Given the description of an element on the screen output the (x, y) to click on. 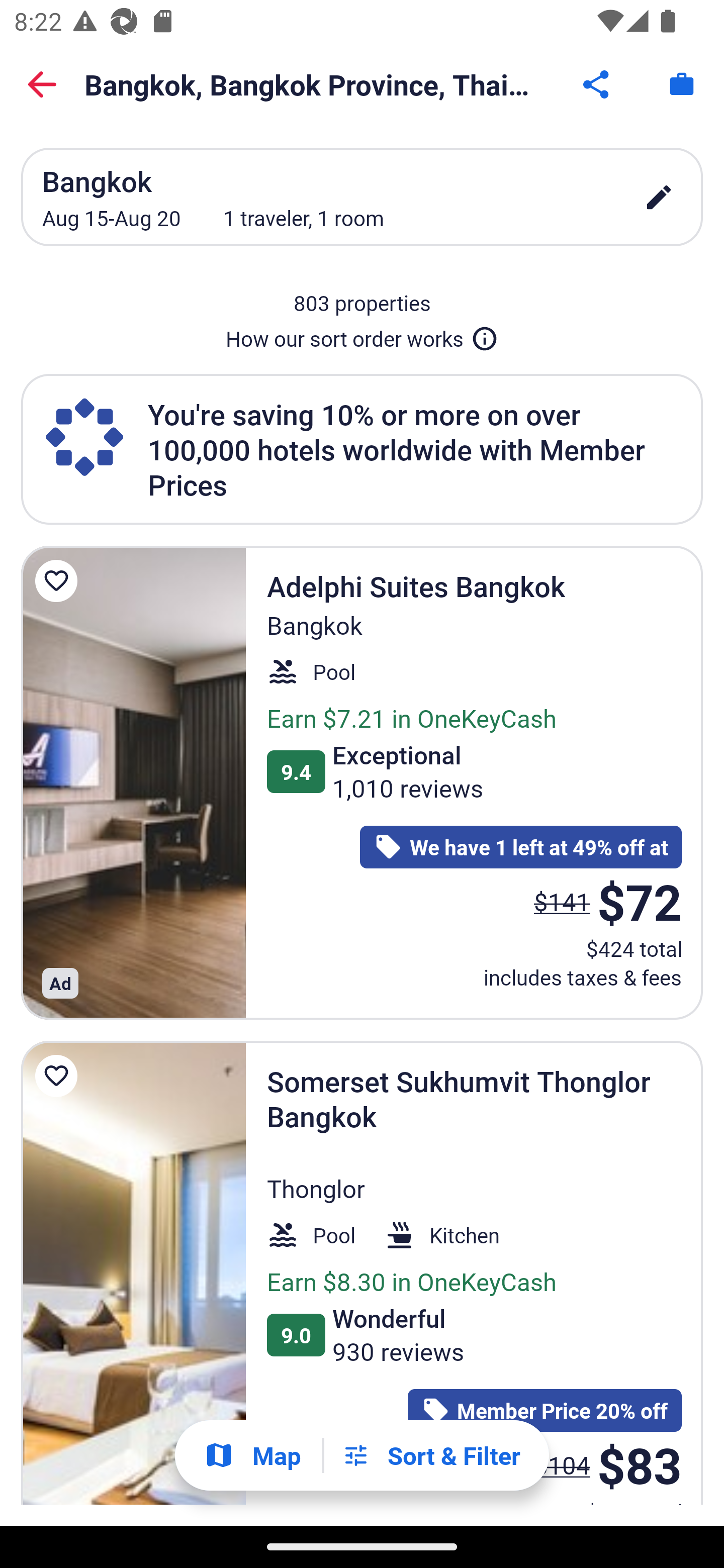
Back (42, 84)
Share Button (597, 84)
Trips. Button (681, 84)
Bangkok Aug 15-Aug 20 1 traveler, 1 room edit (361, 196)
How our sort order works (361, 334)
Save Adelphi Suites Bangkok to a trip (59, 580)
Adelphi Suites Bangkok (133, 782)
$141 The price was $141 (561, 901)
Save Somerset Sukhumvit Thonglor Bangkok to a trip (59, 1075)
Somerset Sukhumvit Thonglor Bangkok (133, 1273)
Filters Sort & Filter Filters Button (430, 1455)
Show map Map Show map Button (252, 1455)
